Given the description of an element on the screen output the (x, y) to click on. 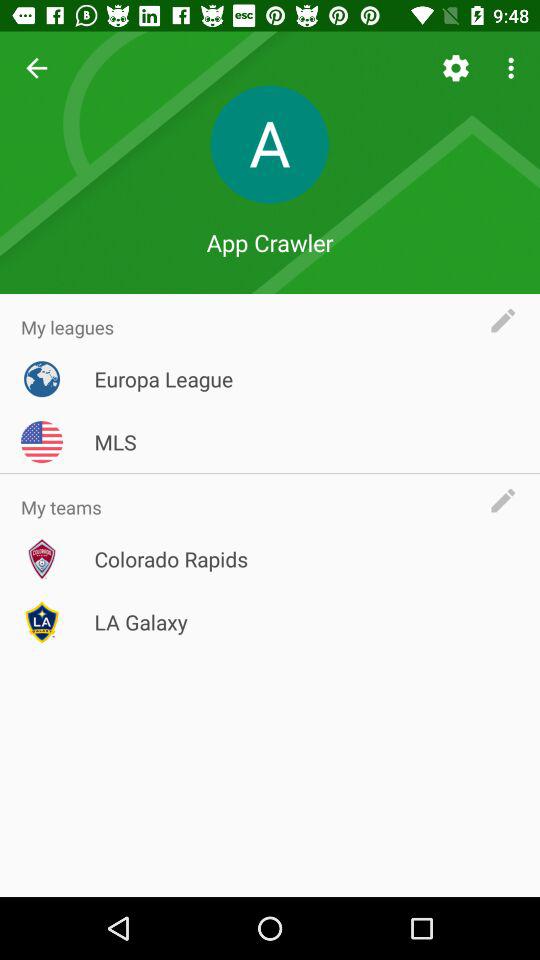
text the app (508, 320)
